Given the description of an element on the screen output the (x, y) to click on. 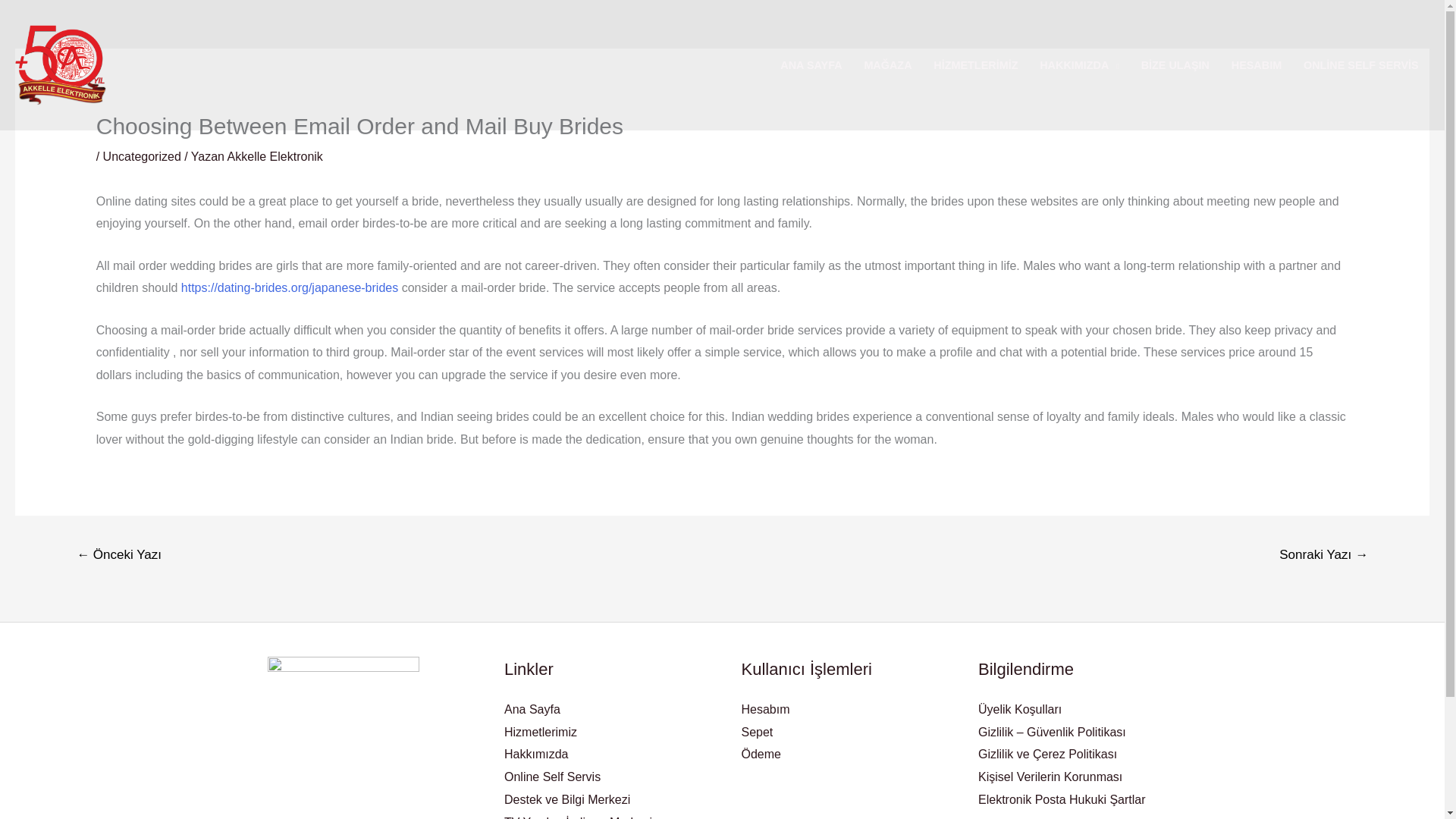
ONLINE SELF SERVIS (1360, 64)
HIZMETLERIMIZ (976, 64)
Online Self Servis (551, 776)
ANA SAYFA (811, 64)
Akkelle Elektronik (275, 155)
Sepet (757, 731)
HAKKIMIZDA (1079, 64)
Hizmetlerimiz (539, 731)
Ana Sayfa (531, 708)
HESABIM (1256, 64)
Destek ve Bilgi Merkezi (566, 799)
Uncategorized (141, 155)
